Given the description of an element on the screen output the (x, y) to click on. 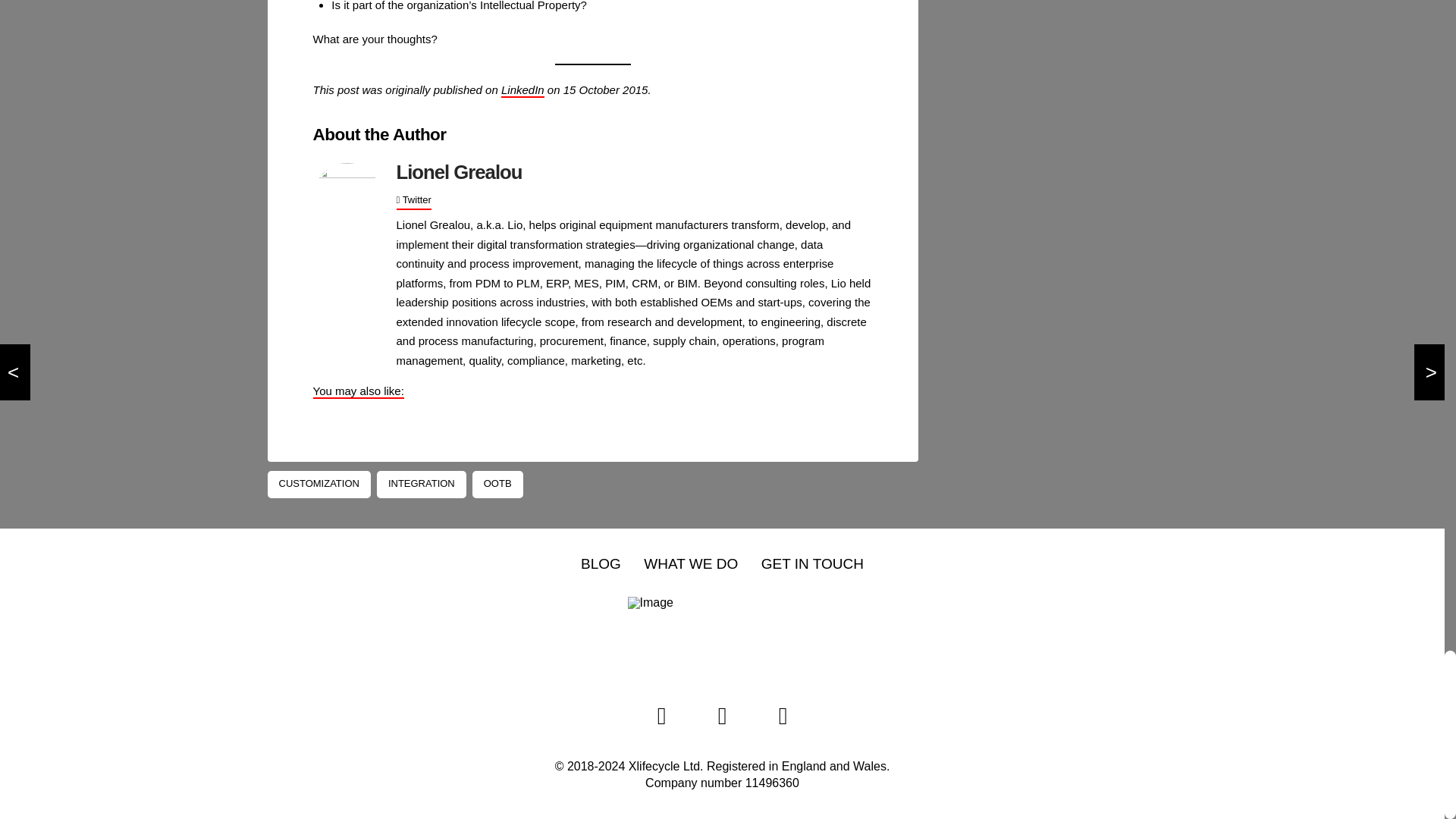
You may also like: (358, 391)
CUSTOMIZATION (317, 483)
LinkedIn (522, 90)
Twitter (413, 200)
INTEGRATION (421, 483)
OOTB (496, 483)
Visit the Twitter Profile for Lionel Grealou (413, 200)
